Given the description of an element on the screen output the (x, y) to click on. 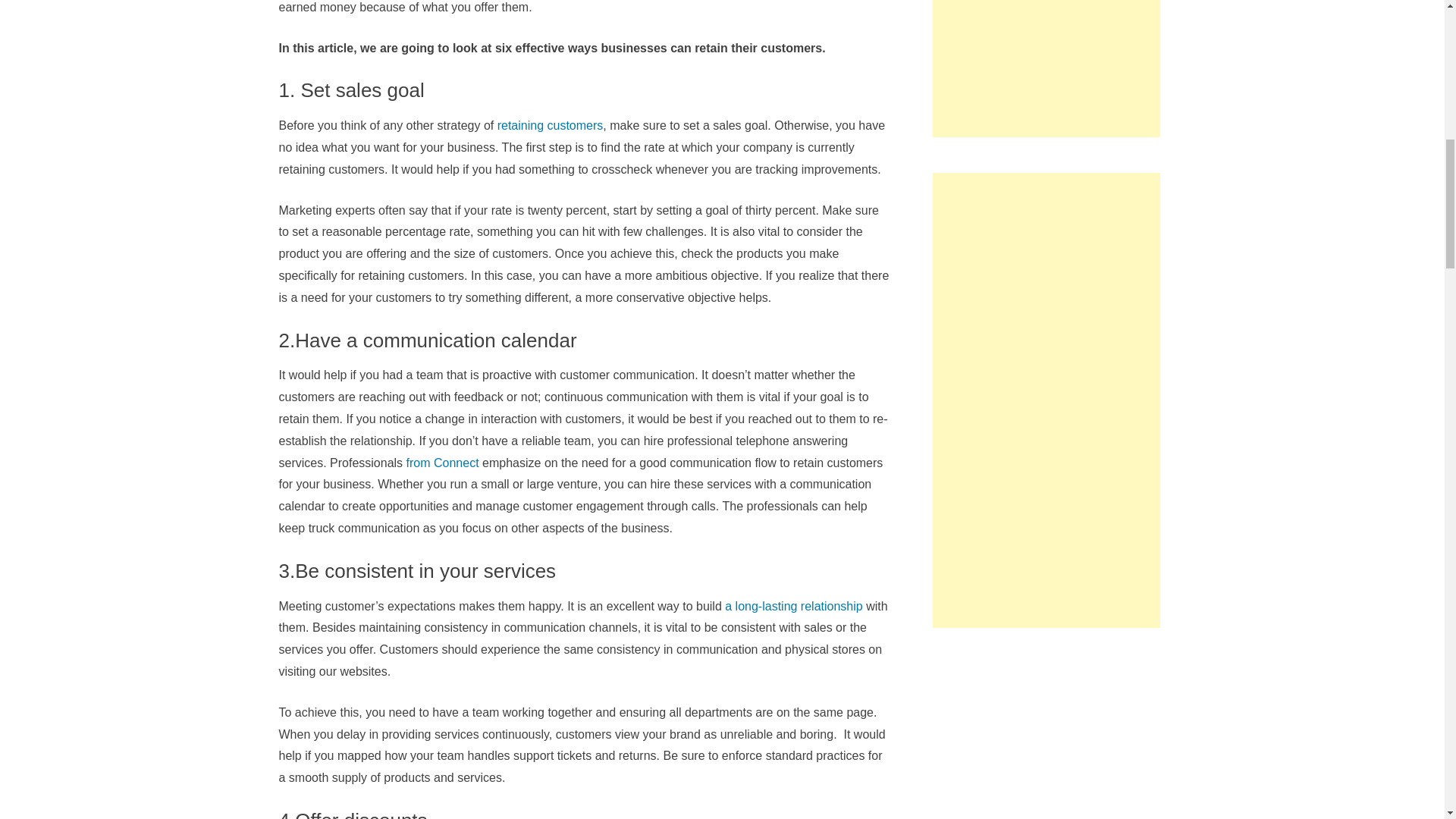
retaining customers (550, 124)
a long-lasting relationship (793, 605)
from Connect (442, 462)
